Given the description of an element on the screen output the (x, y) to click on. 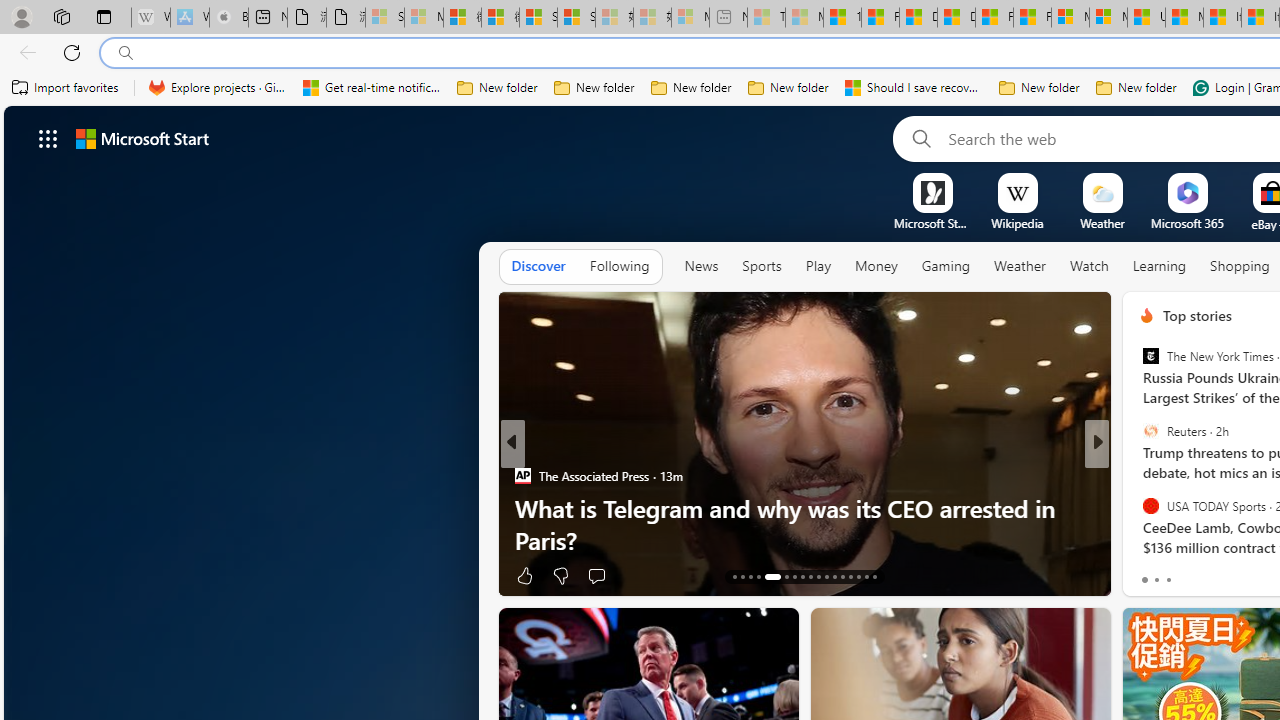
21 Like (1149, 574)
Drinking tea every day is proven to delay biological aging (956, 17)
Business Insider (1138, 475)
AutomationID: tab-18 (782, 576)
AutomationID: tab-17 (767, 576)
US Heat Deaths Soared To Record High Last Year (1145, 17)
Watch (1089, 267)
Reuters (1149, 431)
Dislike (1193, 574)
Play (818, 267)
AutomationID: tab-15 (750, 576)
AutomationID: tab-25 (842, 576)
